Given the description of an element on the screen output the (x, y) to click on. 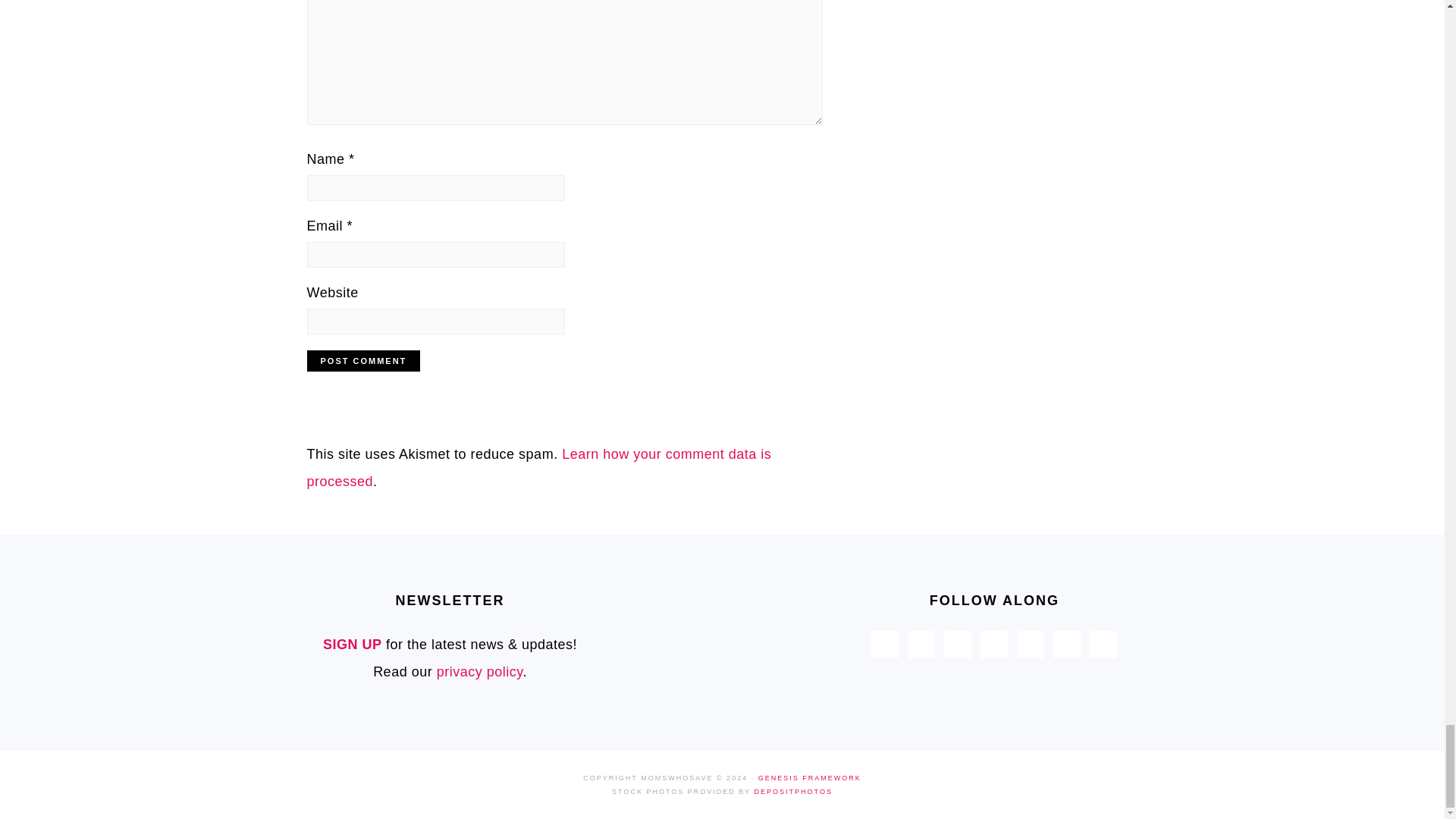
Post Comment (362, 360)
